Given the description of an element on the screen output the (x, y) to click on. 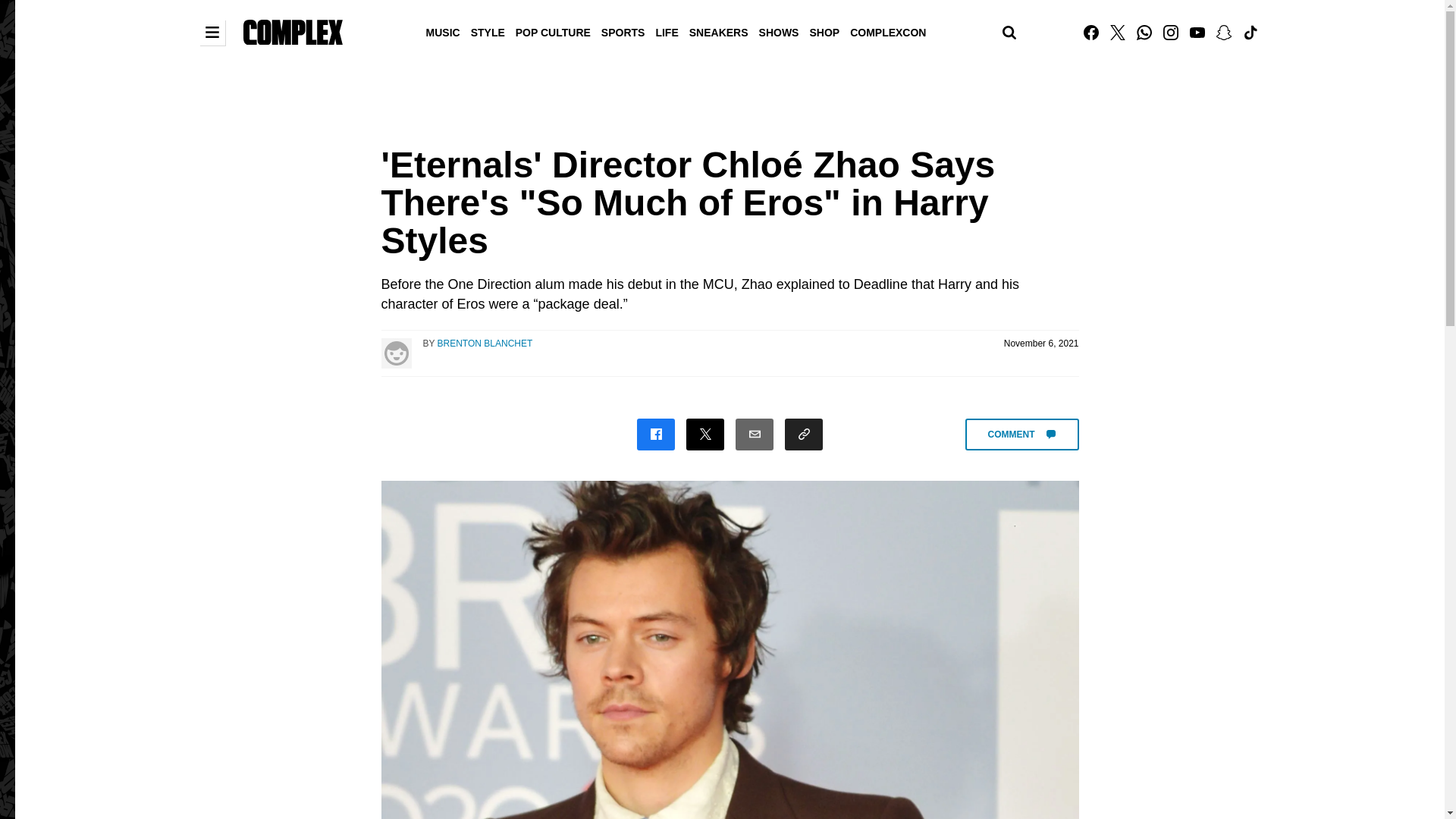
SNEAKERS (719, 30)
SPORTS (622, 30)
STYLE (488, 30)
SHOWS (779, 30)
SHOP (823, 30)
POP CULTURE (553, 30)
LIFE (665, 30)
COMPLEXCON (887, 30)
MUSIC (442, 30)
